Given the description of an element on the screen output the (x, y) to click on. 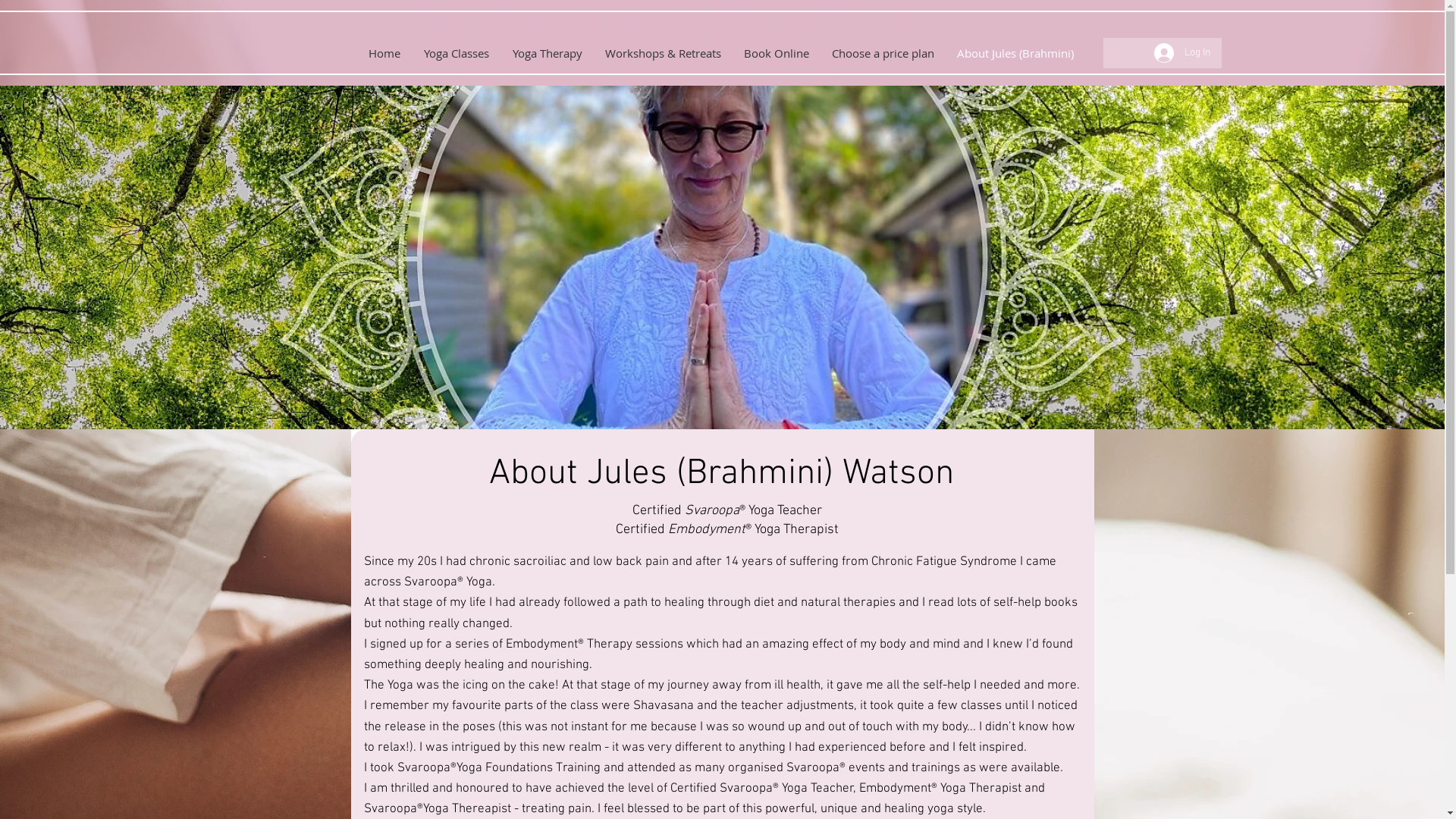
Log In Element type: text (1182, 52)
Book Online Element type: text (776, 53)
Yoga Classes Element type: text (456, 53)
About Jules (Brahmini) Element type: text (1014, 53)
Home Element type: text (383, 53)
Workshops & Retreats Element type: text (662, 53)
Yoga Therapy Element type: text (546, 53)
Choose a price plan Element type: text (882, 53)
